Given the description of an element on the screen output the (x, y) to click on. 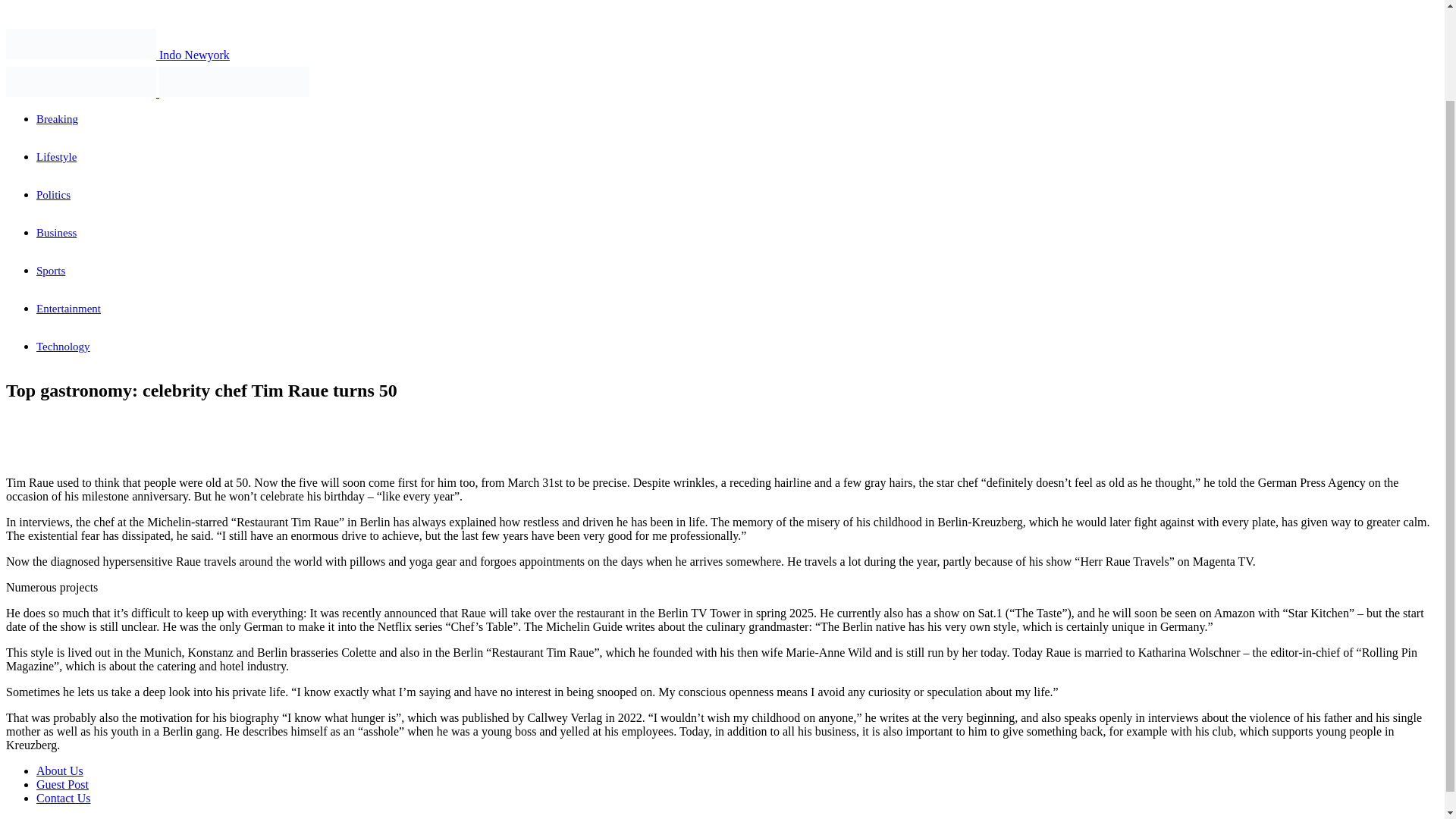
Entertainment (68, 308)
Guest Post (62, 784)
Business (56, 232)
Contact Us (63, 797)
Sports (50, 270)
Breaking (57, 119)
Indo Newyork (117, 54)
Technology (63, 346)
Politics (52, 194)
Lifestyle (56, 156)
About Us (59, 770)
